Given the description of an element on the screen output the (x, y) to click on. 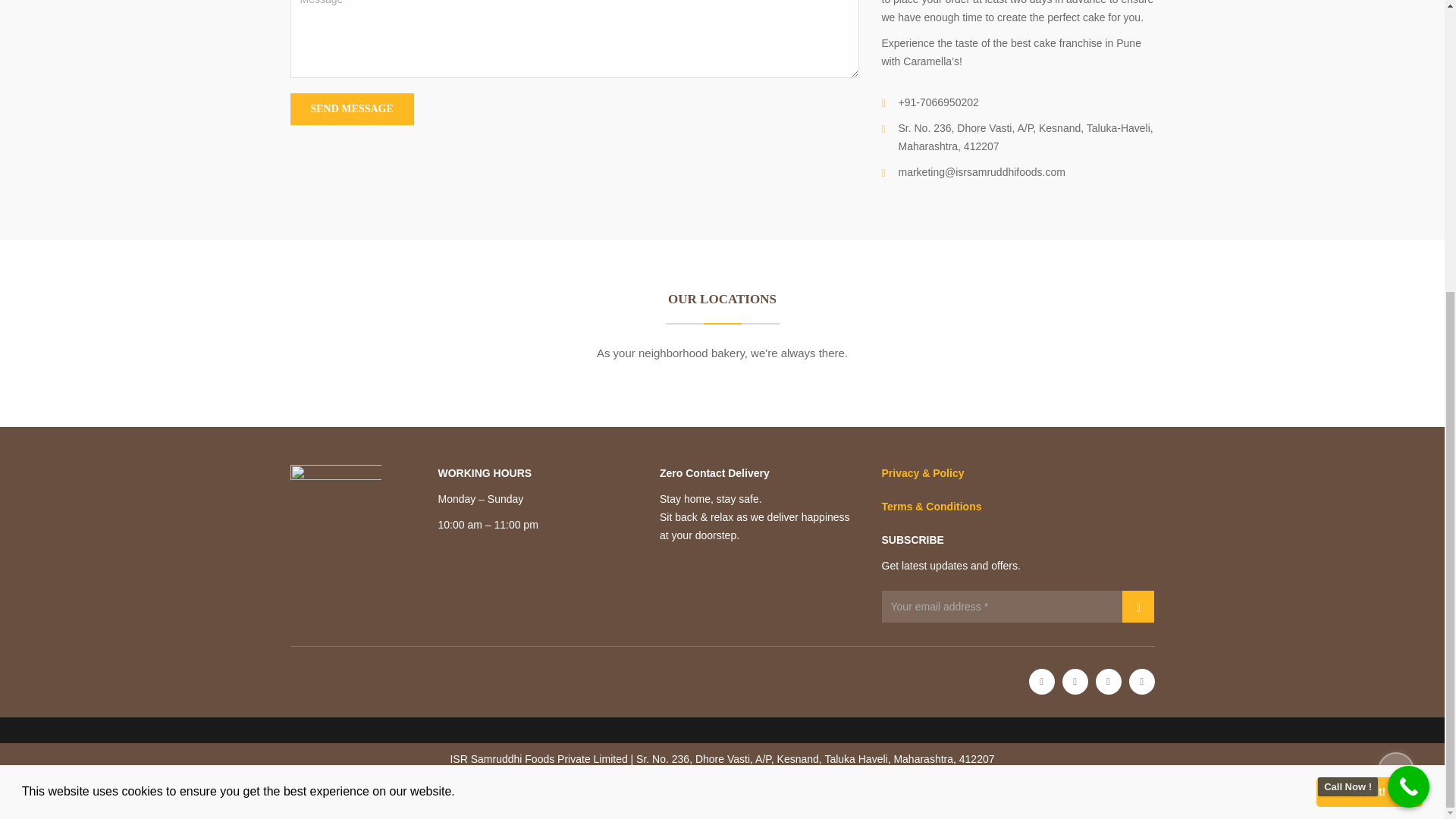
SEND MESSAGE (351, 109)
SEND MESSAGE (351, 109)
Got it! (1369, 346)
